Given the description of an element on the screen output the (x, y) to click on. 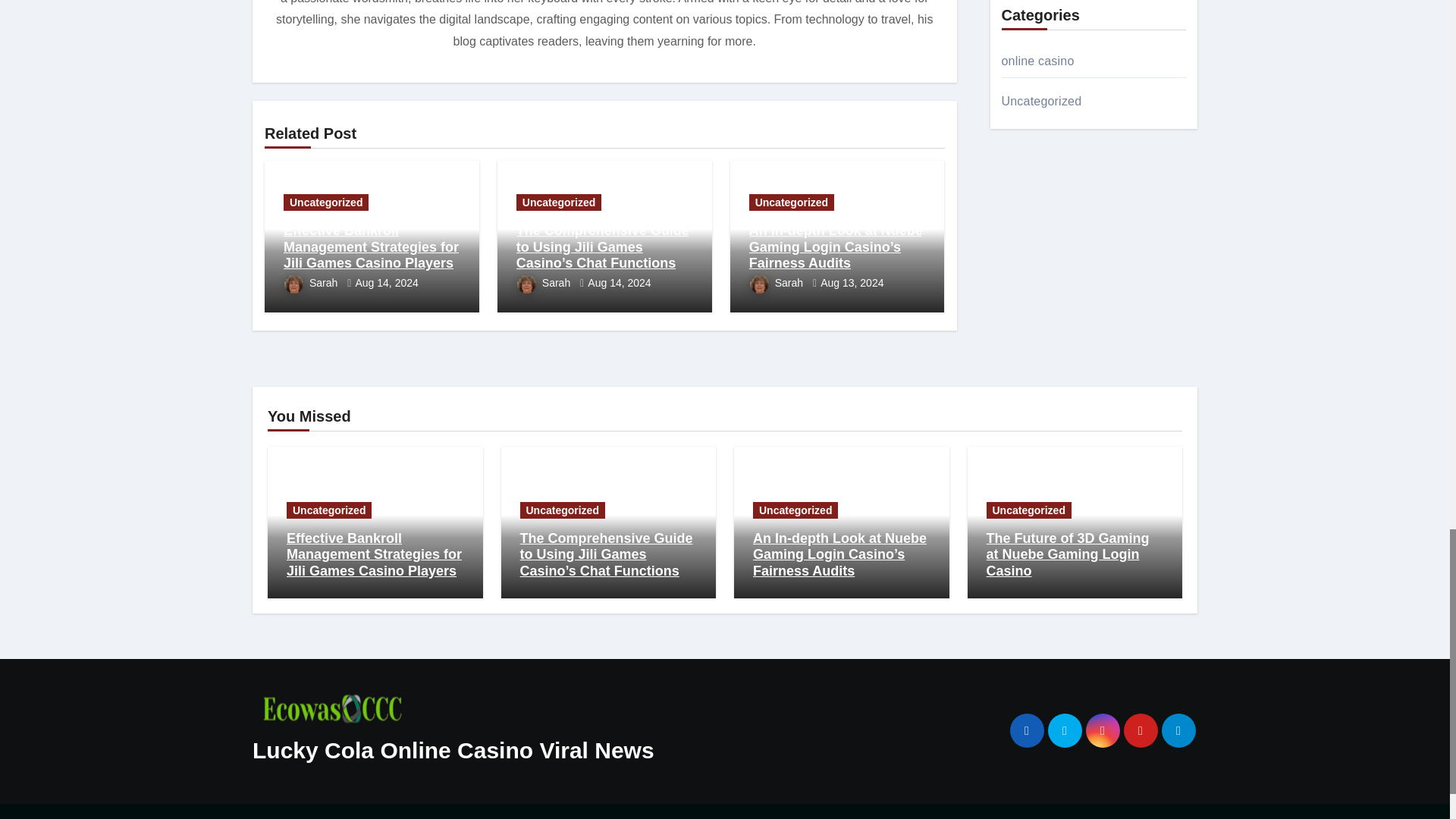
Uncategorized (325, 202)
Sarah (311, 282)
